Given the description of an element on the screen output the (x, y) to click on. 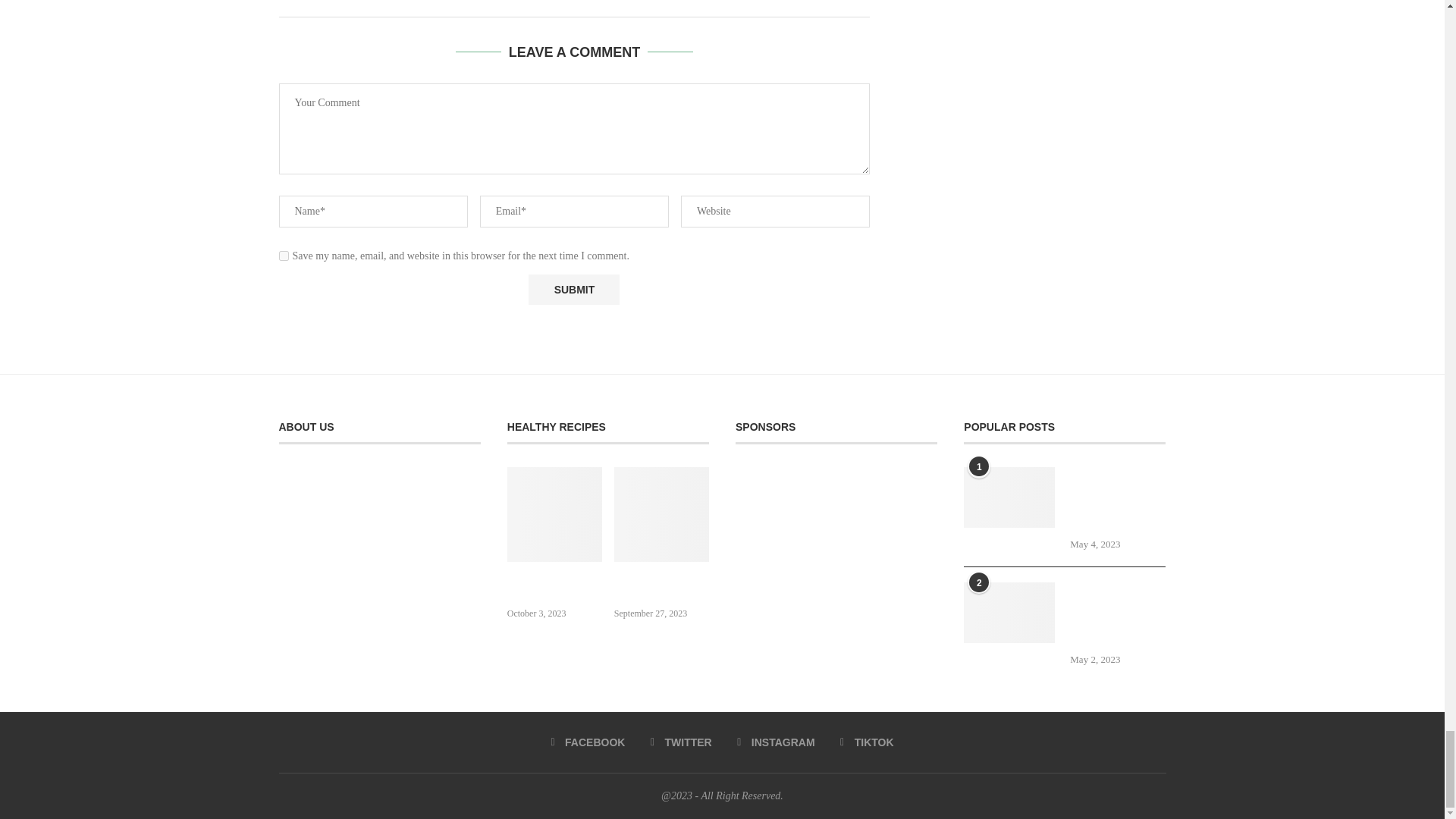
yes (283, 255)
Submit (574, 289)
